Given the description of an element on the screen output the (x, y) to click on. 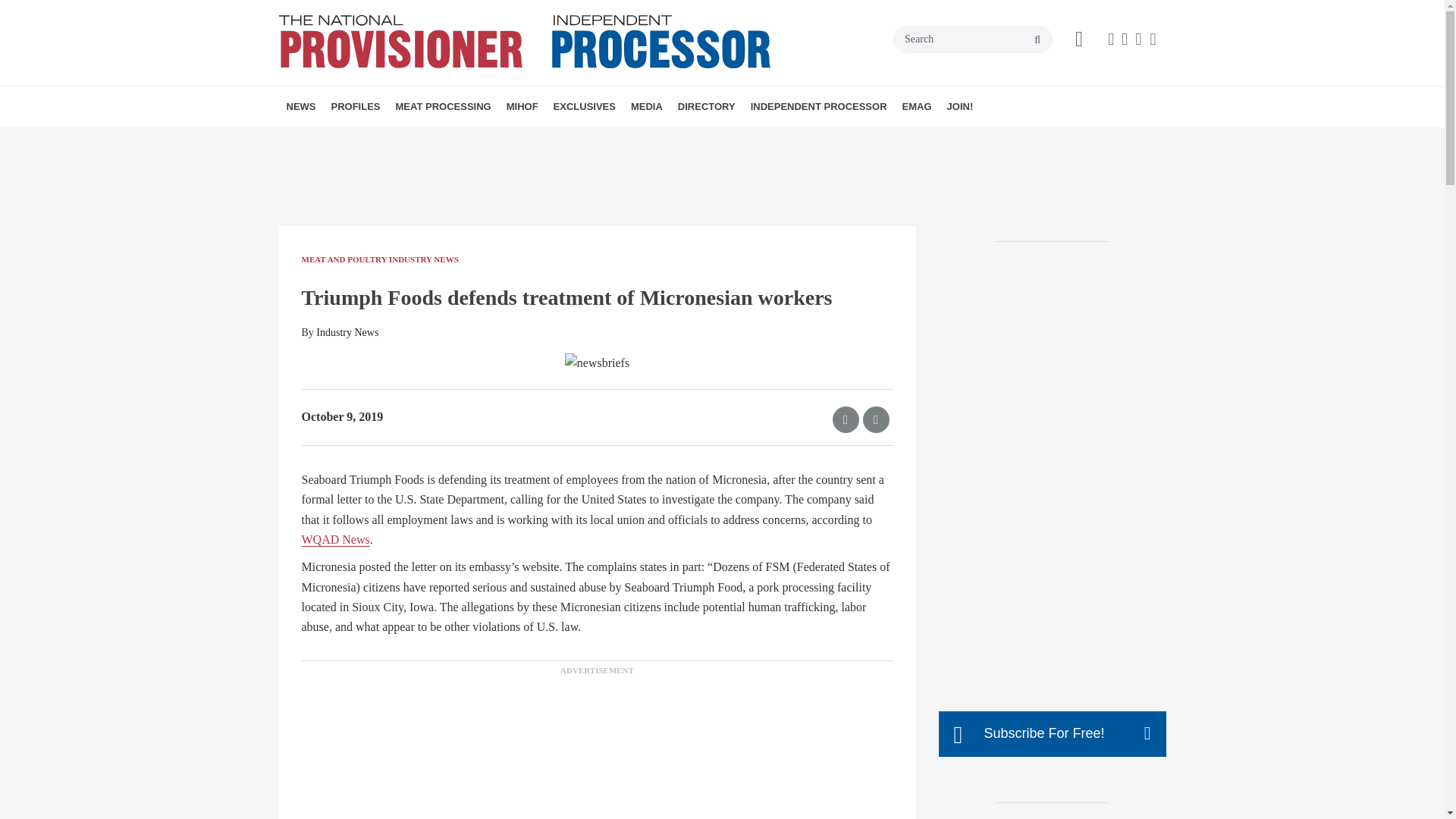
TOP 100 PROCESSORS (430, 139)
EVENTS (647, 139)
MEAT PROCESSING (443, 106)
SPECIAL REPORTS (513, 139)
FORMULATION (506, 139)
WEBINARS (653, 139)
RECALLS (391, 139)
PROCESSING (489, 139)
PROCESSOR PROFILES (417, 139)
NEW CONSUMER PRODUCTS (400, 139)
